Given the description of an element on the screen output the (x, y) to click on. 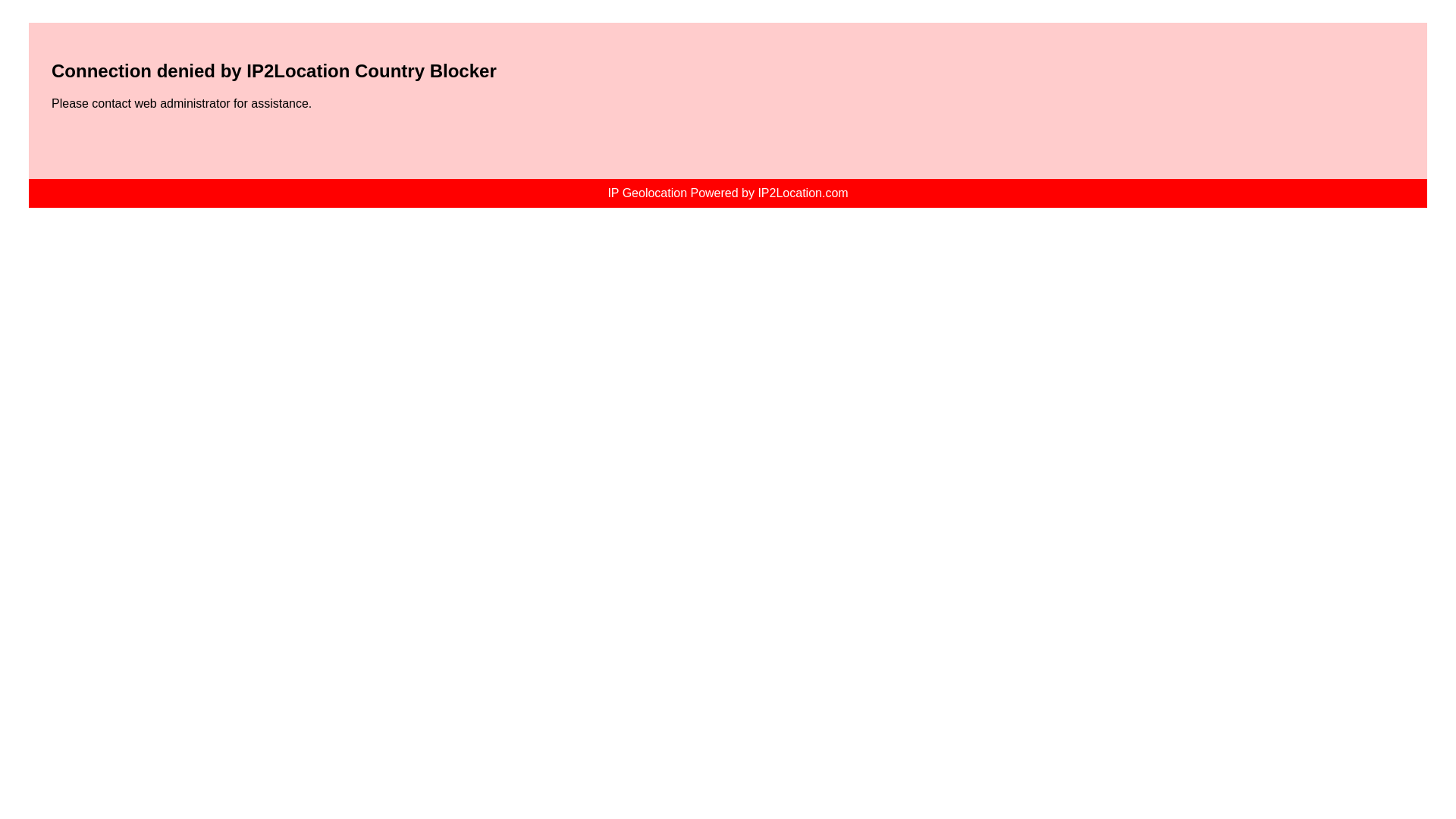
IP Geolocation Powered by IP2Location.com (727, 192)
